Given the description of an element on the screen output the (x, y) to click on. 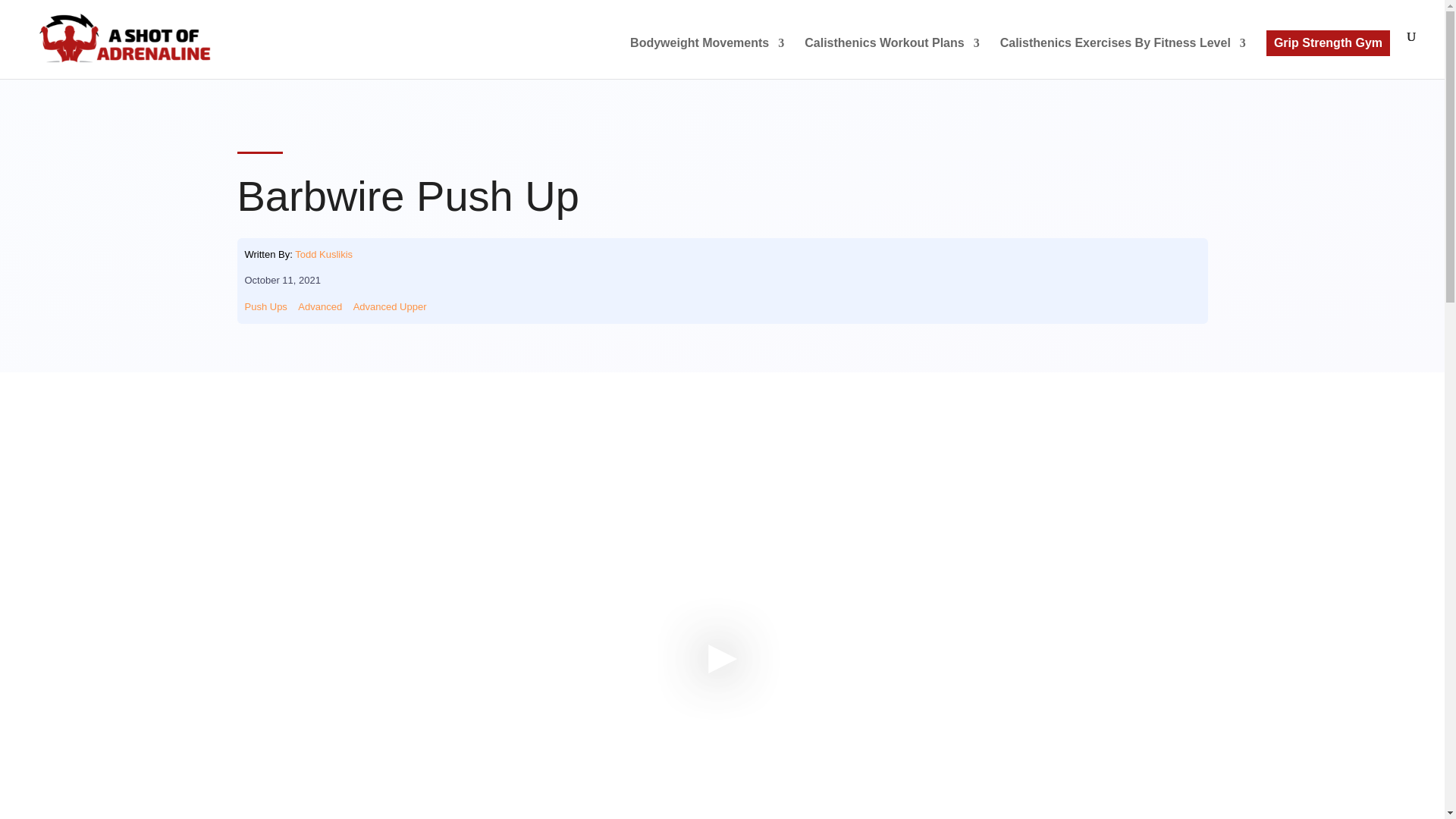
Calisthenics Exercises By Fitness Level (1123, 57)
Grip Strength Gym (1328, 43)
Bodyweight Movements (707, 57)
Calisthenics Workout Plans (891, 57)
